Given the description of an element on the screen output the (x, y) to click on. 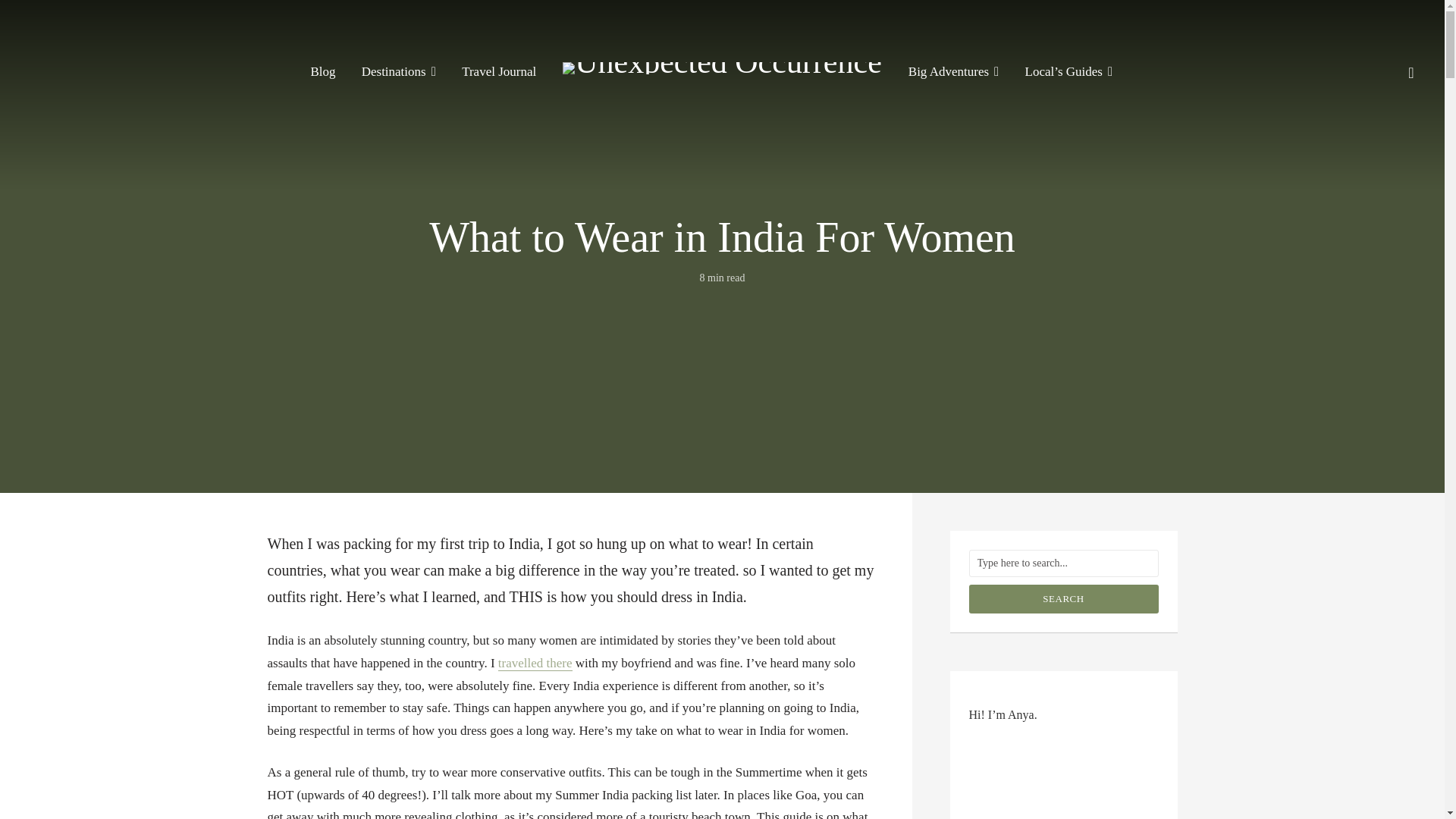
Destinations (398, 72)
Travel Journal (498, 72)
Big Adventures (953, 72)
